Given the description of an element on the screen output the (x, y) to click on. 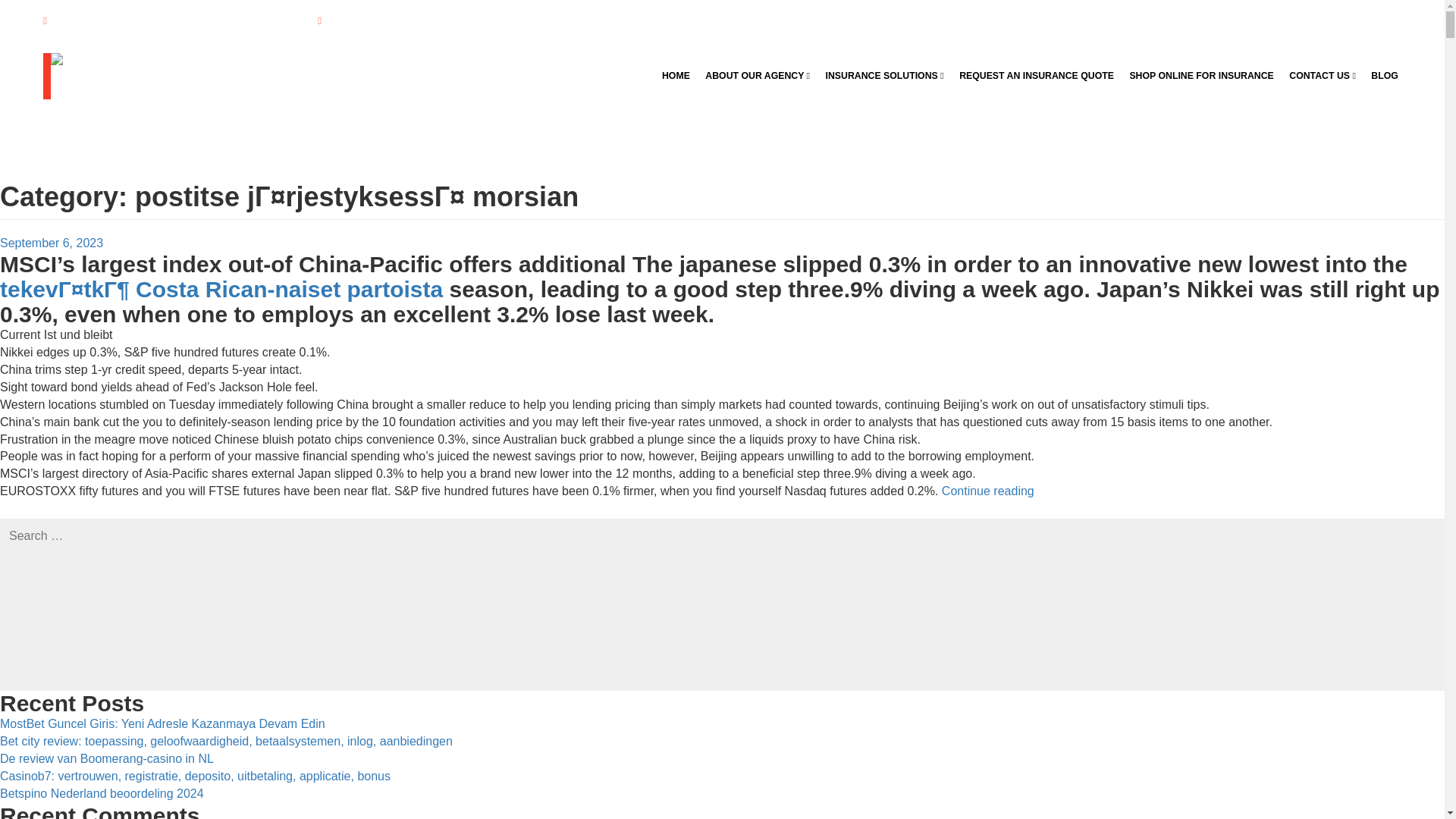
CONTACT US (1321, 75)
SHOP ONLINE FOR INSURANCE (1200, 75)
HOME (676, 75)
ABOUT OUR AGENCY (756, 75)
INSURANCE SOLUTIONS (884, 75)
REQUEST AN INSURANCE QUOTE (1036, 75)
September 6, 2023 (51, 242)
BLOG (1384, 75)
